Given the description of an element on the screen output the (x, y) to click on. 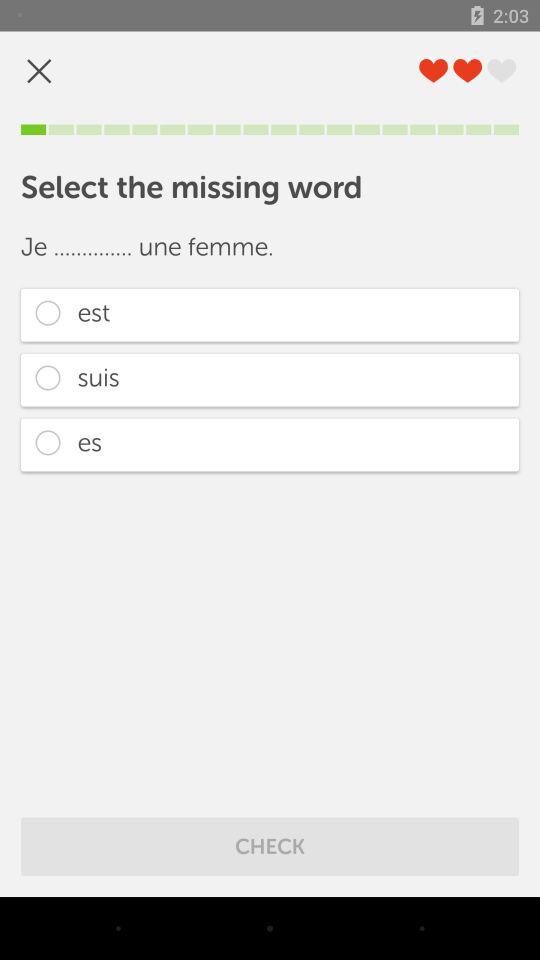
tap the suis (270, 379)
